Given the description of an element on the screen output the (x, y) to click on. 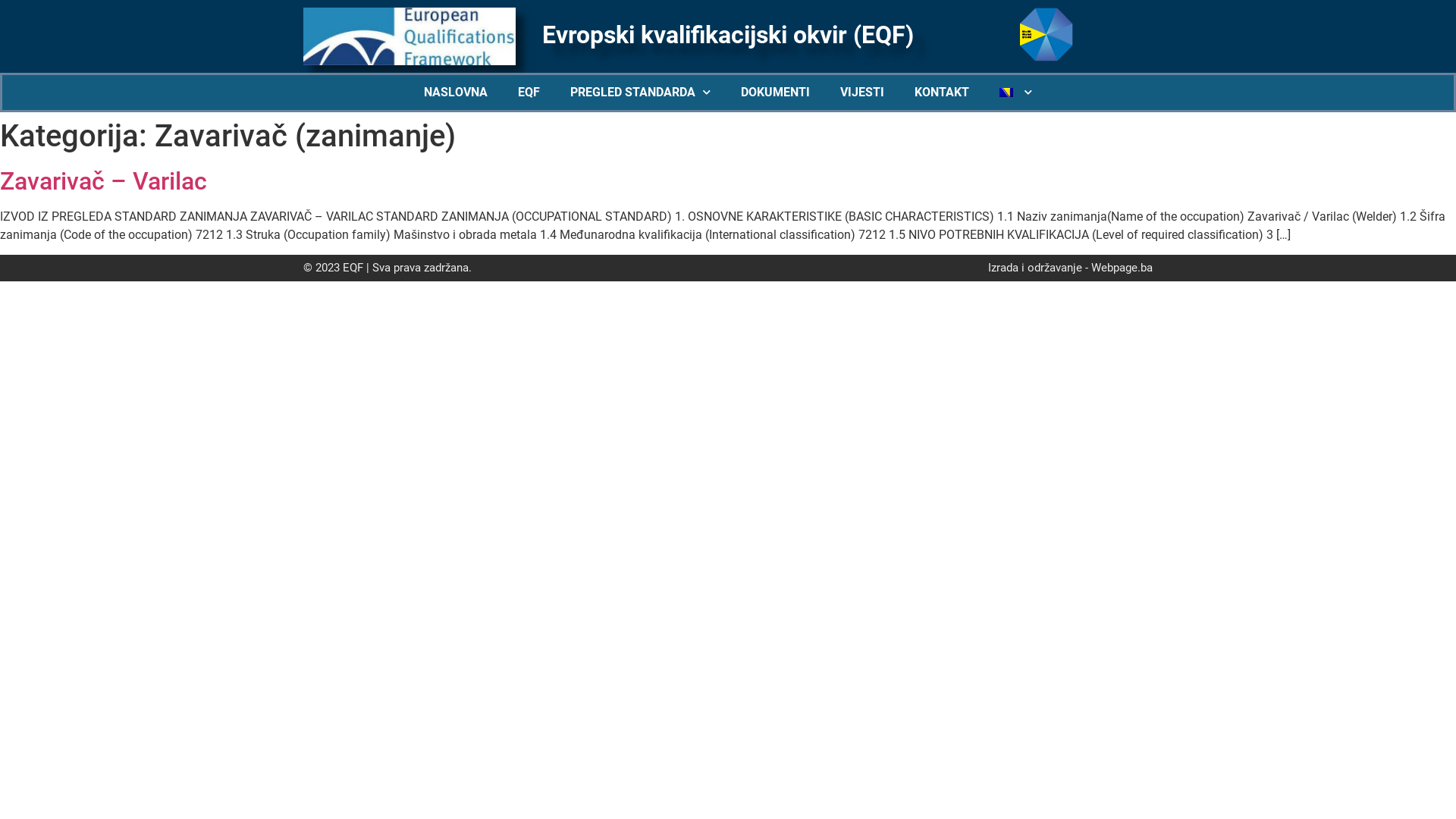
KONTAKT Element type: text (941, 92)
DOKUMENTI Element type: text (775, 92)
PREGLED STANDARDA Element type: text (640, 92)
EQF Element type: text (528, 92)
VIJESTI Element type: text (862, 92)
NASLOVNA Element type: text (455, 92)
